Given the description of an element on the screen output the (x, y) to click on. 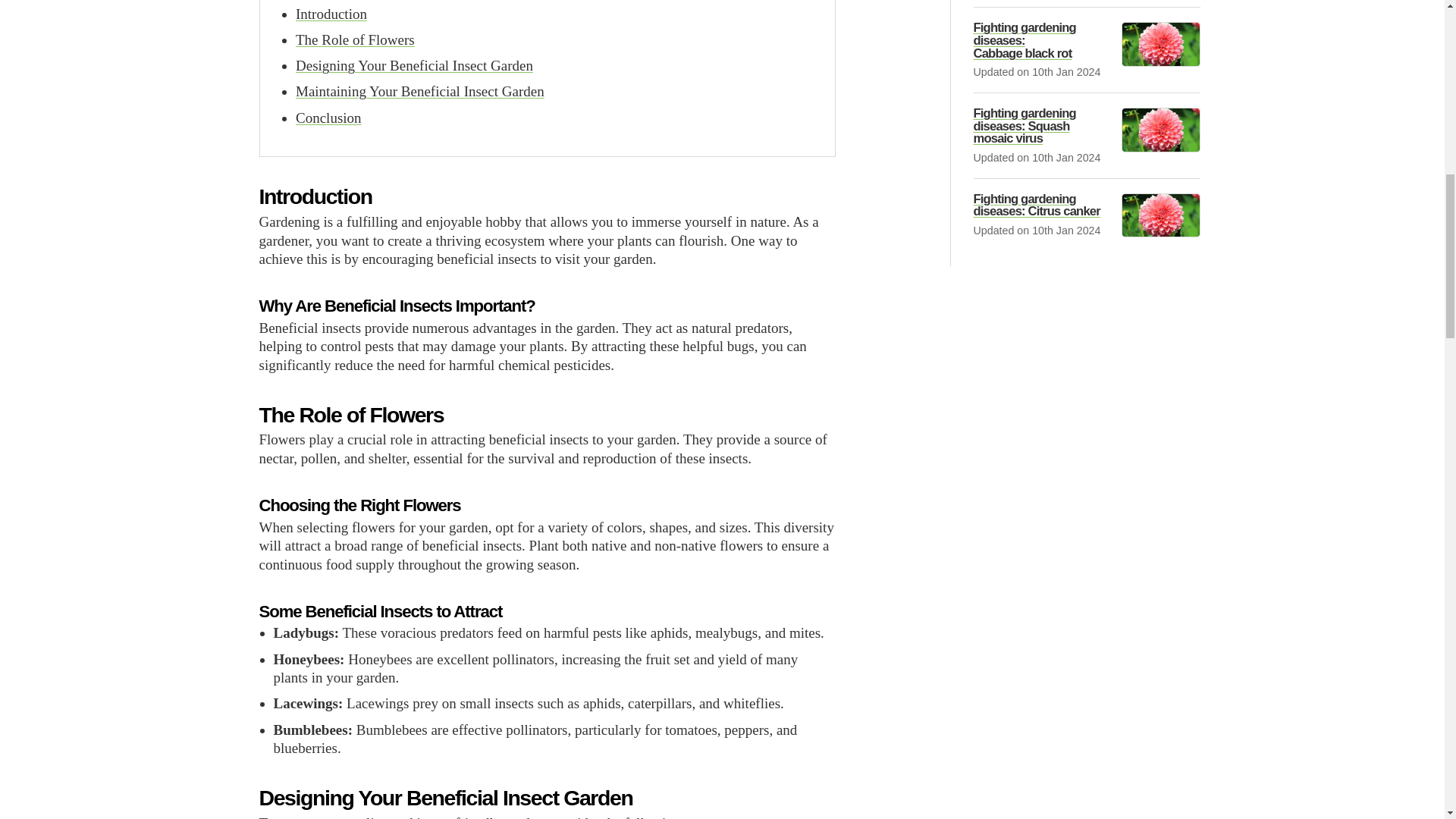
The Role of Flowers (354, 39)
Maintaining Your Beneficial Insect Garden (419, 91)
Designing Your Beneficial Insect Garden (413, 65)
Conclusion (328, 117)
Introduction (330, 13)
